Given the description of an element on the screen output the (x, y) to click on. 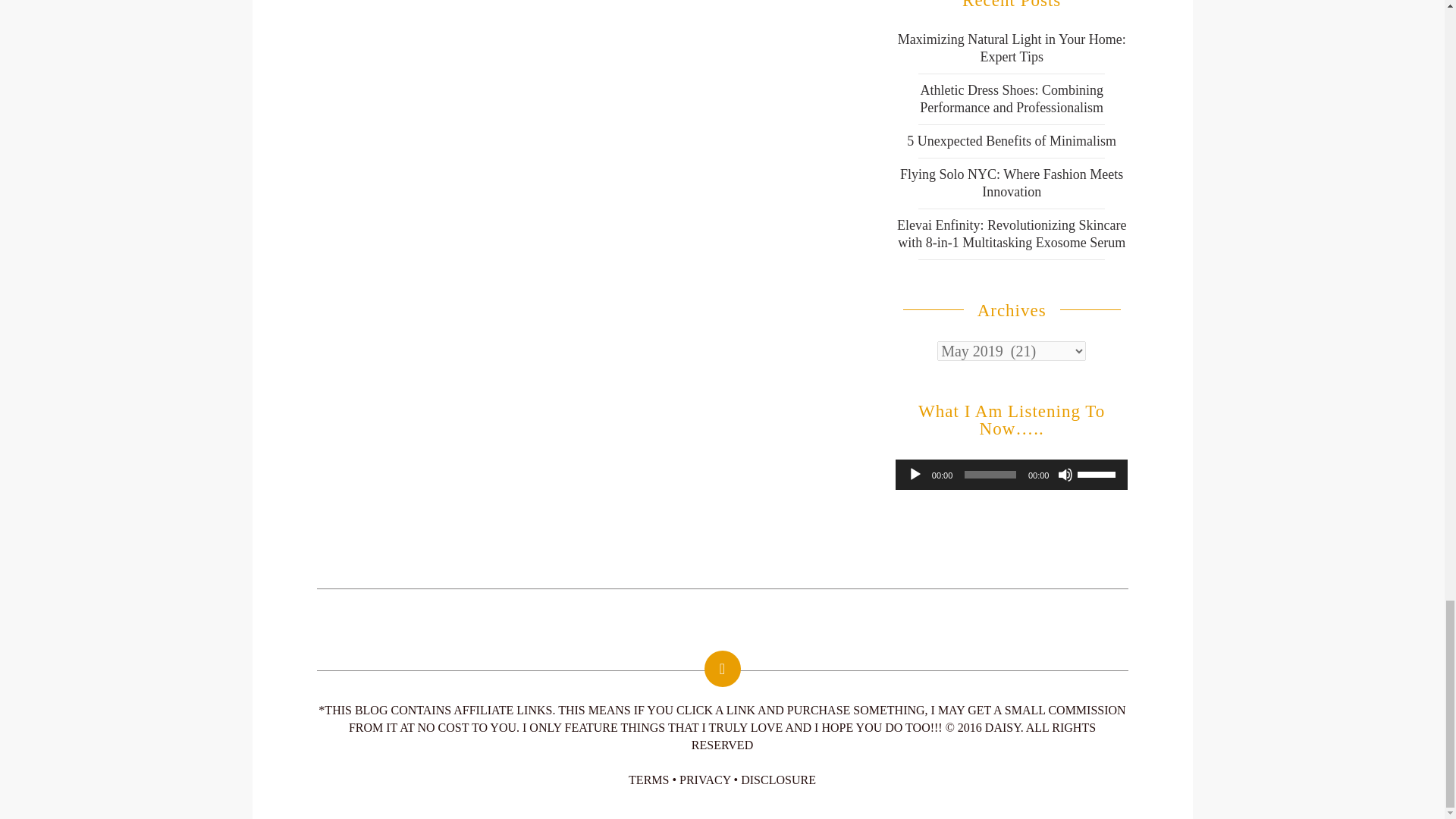
5 Unexpected Benefits of Minimalism (1011, 140)
Maximizing Natural Light in Your Home: Expert Tips (1011, 47)
Flying Solo NYC: Where Fashion Meets Innovation (1010, 183)
Mute (1065, 474)
Play (915, 474)
